Given the description of an element on the screen output the (x, y) to click on. 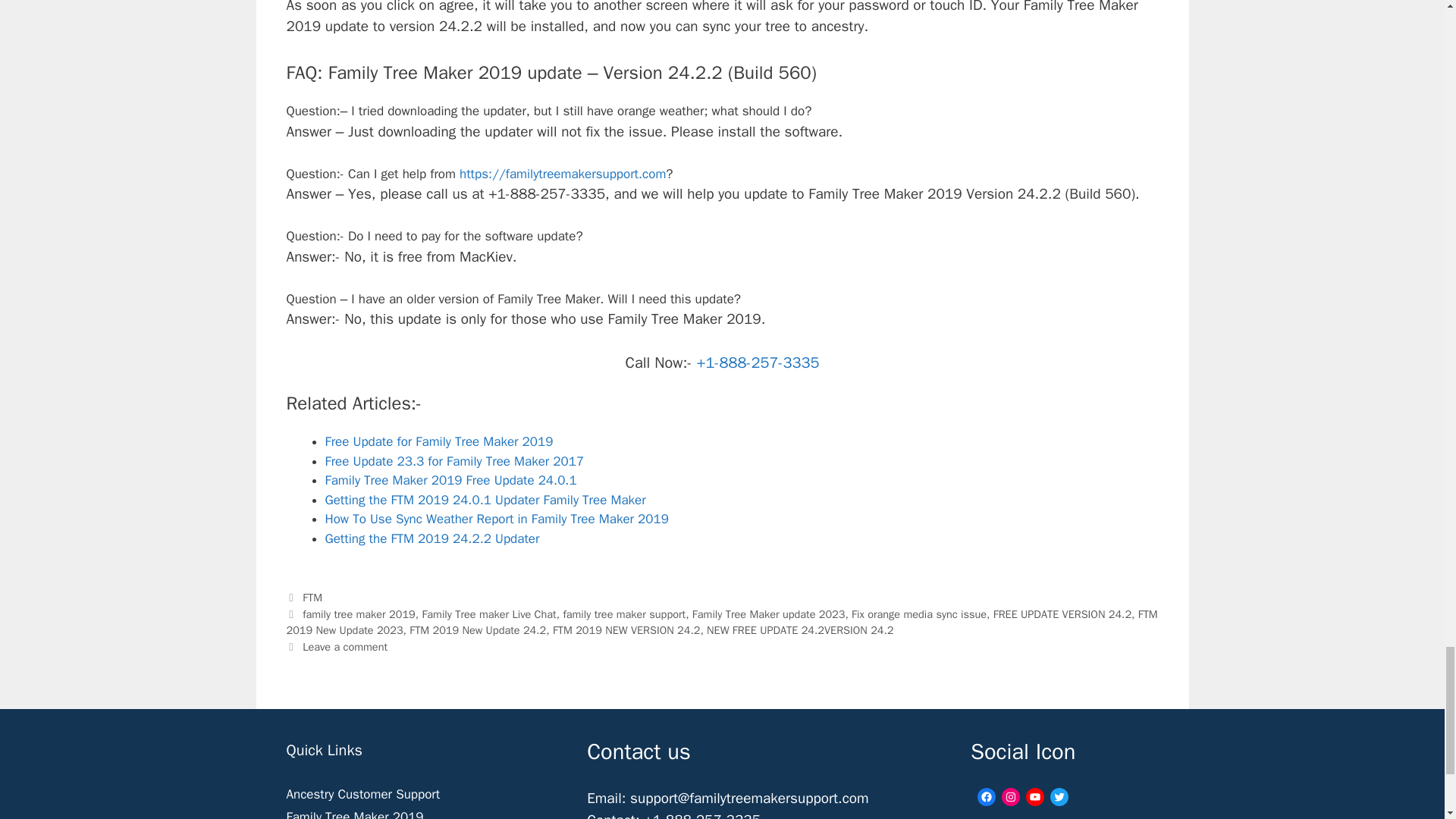
Family Tree maker Live Chat (489, 613)
Free Update 23.3 for Family Tree Maker 2017 (453, 461)
Free Update for Family Tree Maker 2019 (438, 441)
FREE UPDATE VERSION 24.2 (1061, 613)
FTM 2019 New Update 2023 (721, 622)
How To Use Sync Weather Report in Family Tree Maker 2019 (496, 519)
Ancestry Customer Support (363, 794)
Leave a comment (344, 646)
Getting the FTM 2019 24.0.1 Updater Family Tree Maker (484, 499)
family tree maker 2019 (358, 613)
